Given the description of an element on the screen output the (x, y) to click on. 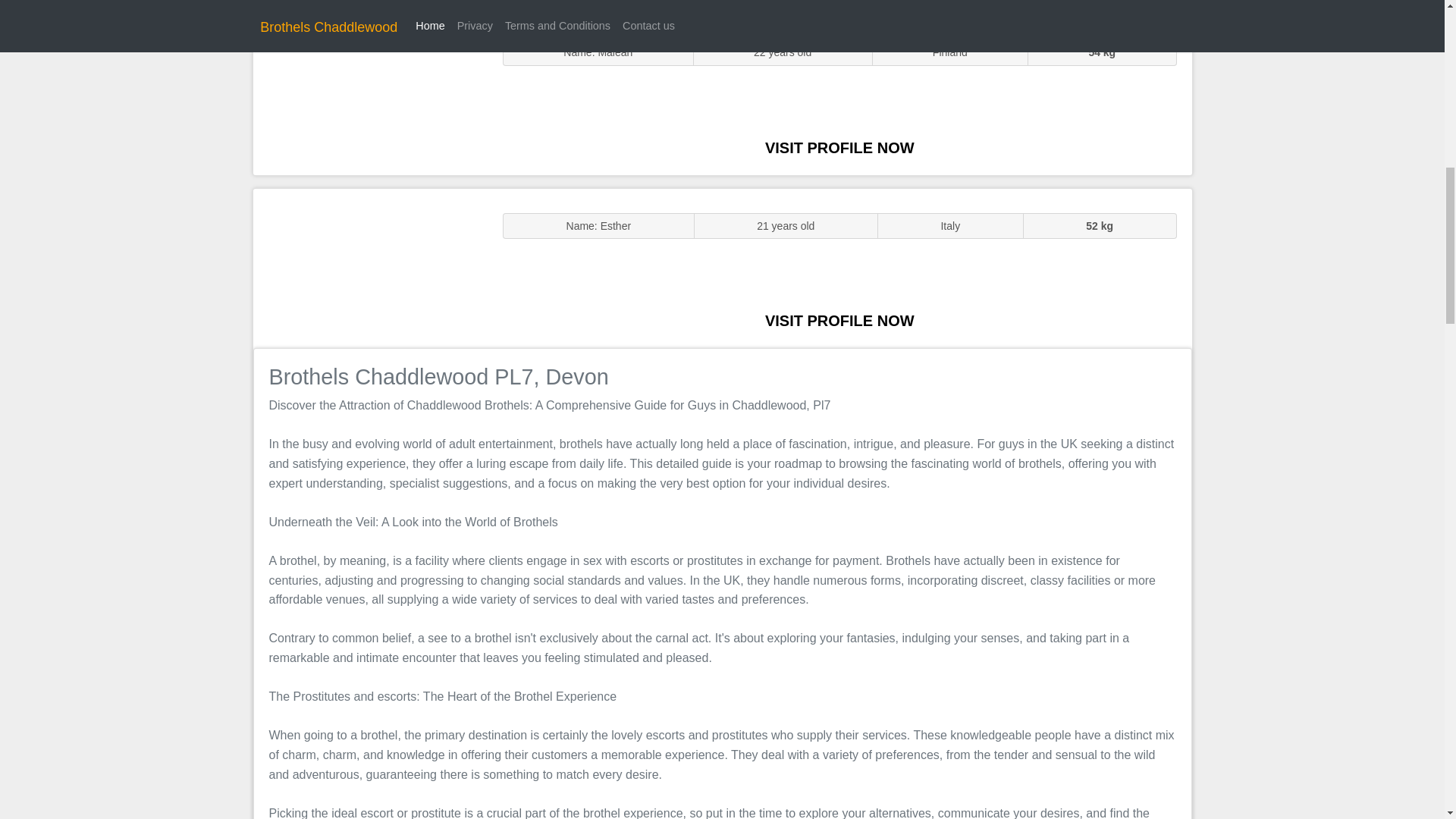
VISIT PROFILE NOW (839, 147)
Sluts (370, 94)
Massage (370, 267)
VISIT PROFILE NOW (839, 320)
